Given the description of an element on the screen output the (x, y) to click on. 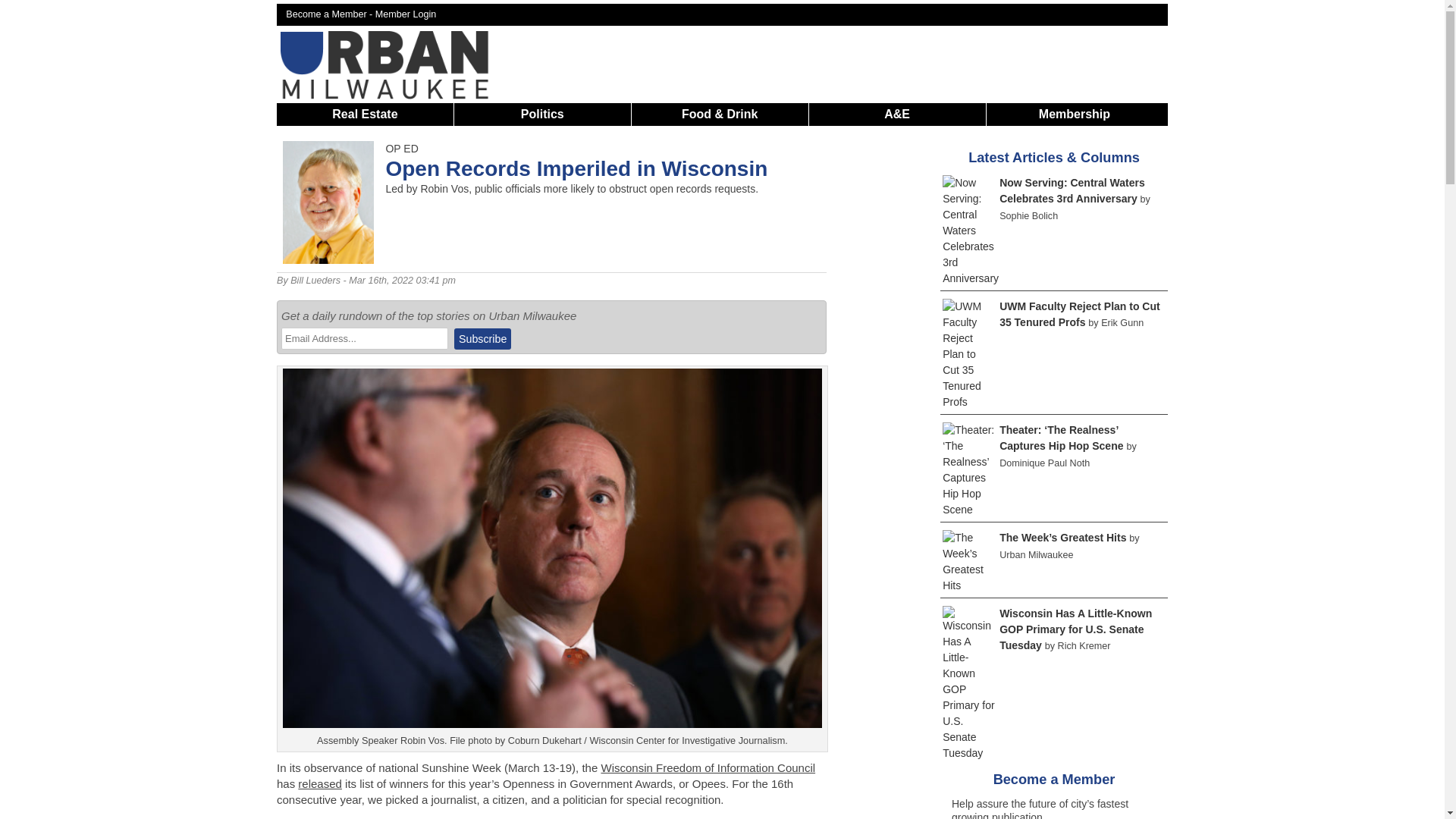
Subscribe (482, 338)
released (320, 783)
Subscribe (482, 338)
Politics (542, 113)
Bill Lueders (314, 280)
Membership (1074, 113)
Posts by Bill Lueders (314, 280)
Real Estate (364, 113)
Become a Member - (330, 14)
Member Login (405, 14)
